Given the description of an element on the screen output the (x, y) to click on. 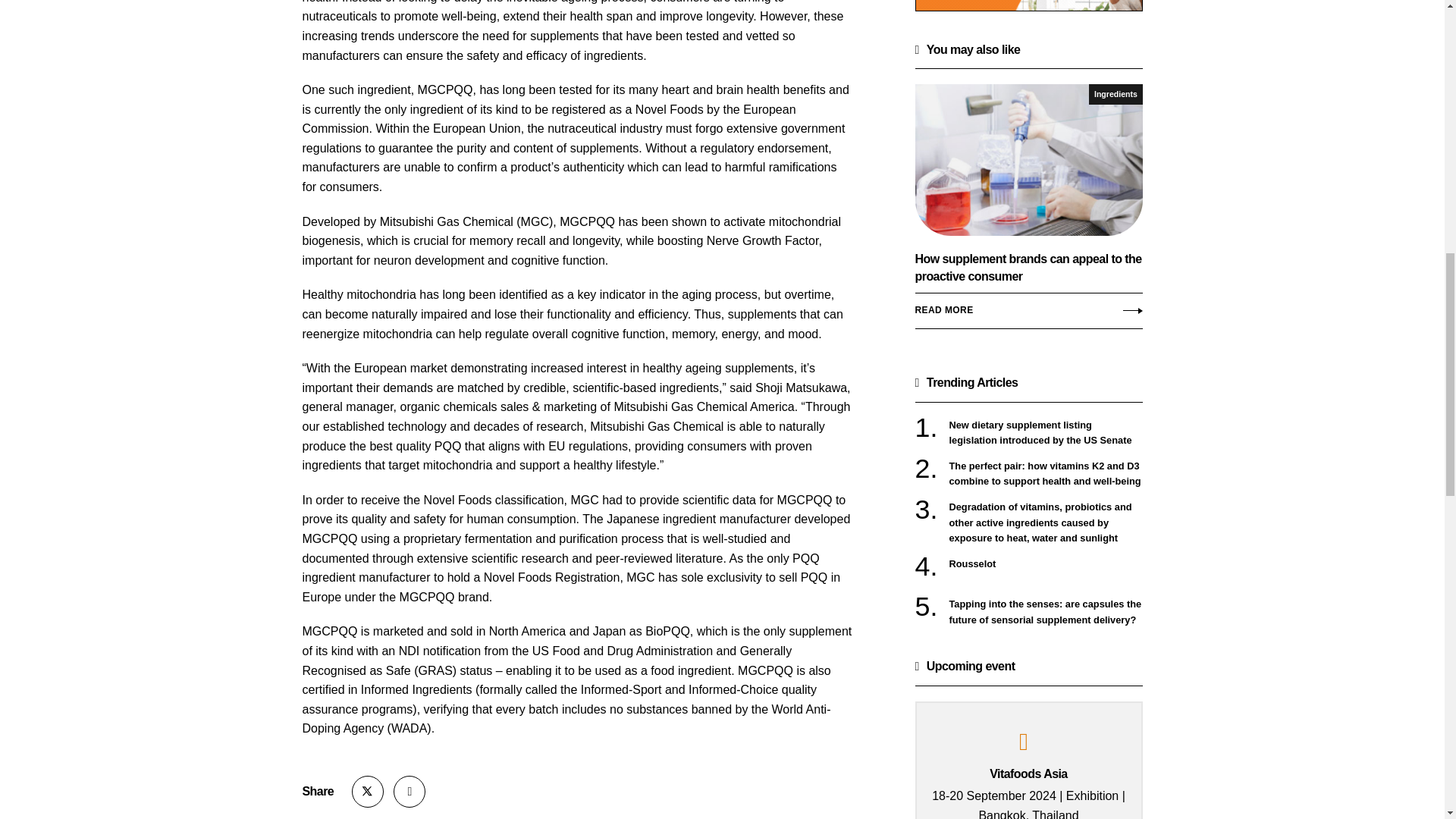
Follow Nutraceutical Business Review on LinkedIn (409, 791)
X (368, 791)
Ingredients (1115, 94)
Follow Nutraceutical Business Review on X (368, 791)
Rousselot (1045, 563)
LinkedIn (409, 791)
